Given the description of an element on the screen output the (x, y) to click on. 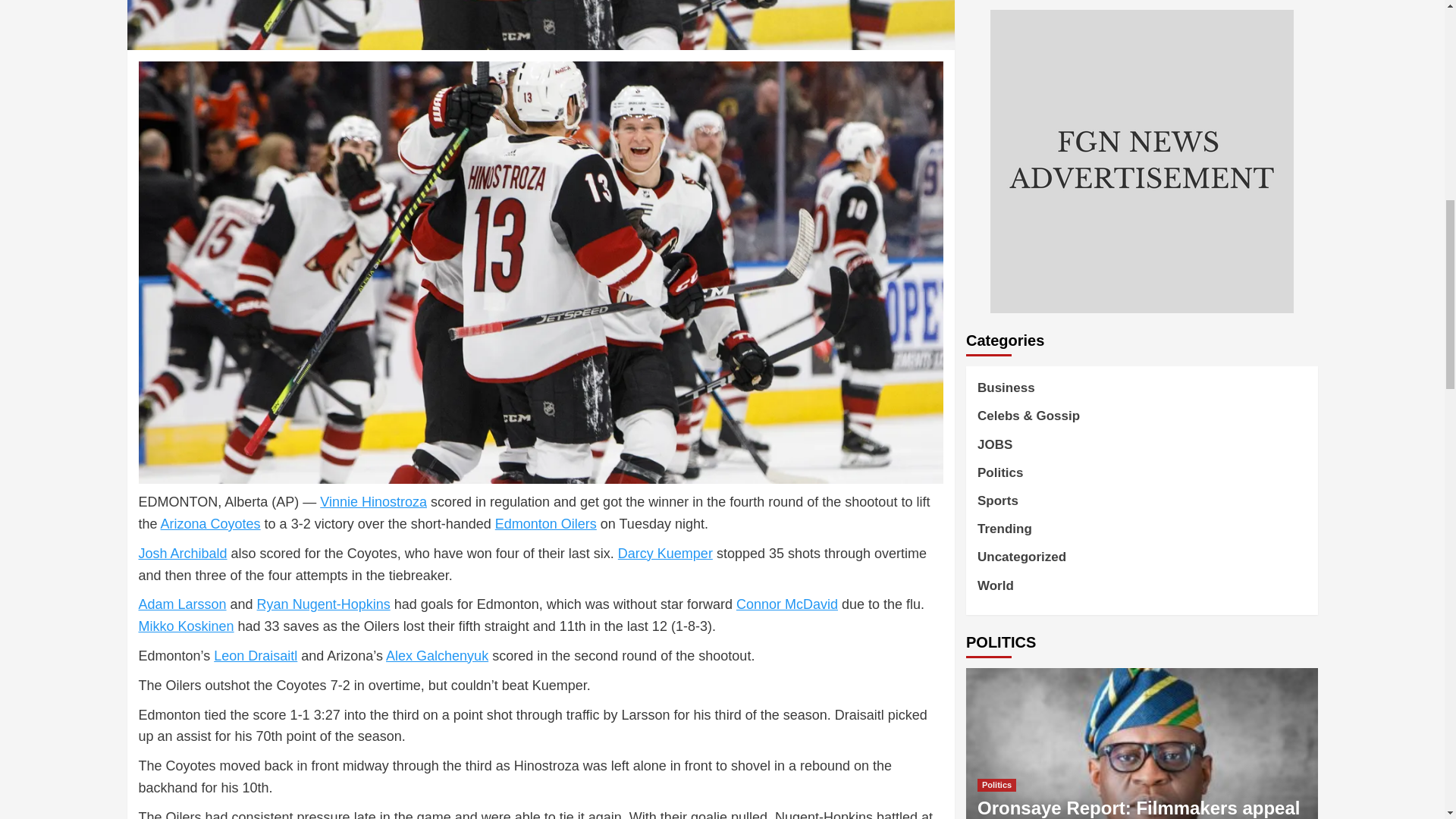
Mikko Koskinen (185, 626)
Connor McDavid (787, 604)
Edmonton Oilers (545, 523)
Josh Archibald (182, 553)
Arizona Coyotes (210, 523)
Darcy Kuemper (665, 553)
Vinnie Hinostroza (373, 501)
Adam Larsson (181, 604)
Ryan Nugent-Hopkins (323, 604)
Alex Galchenyuk (436, 655)
Leon Draisaitl (255, 655)
